Given the description of an element on the screen output the (x, y) to click on. 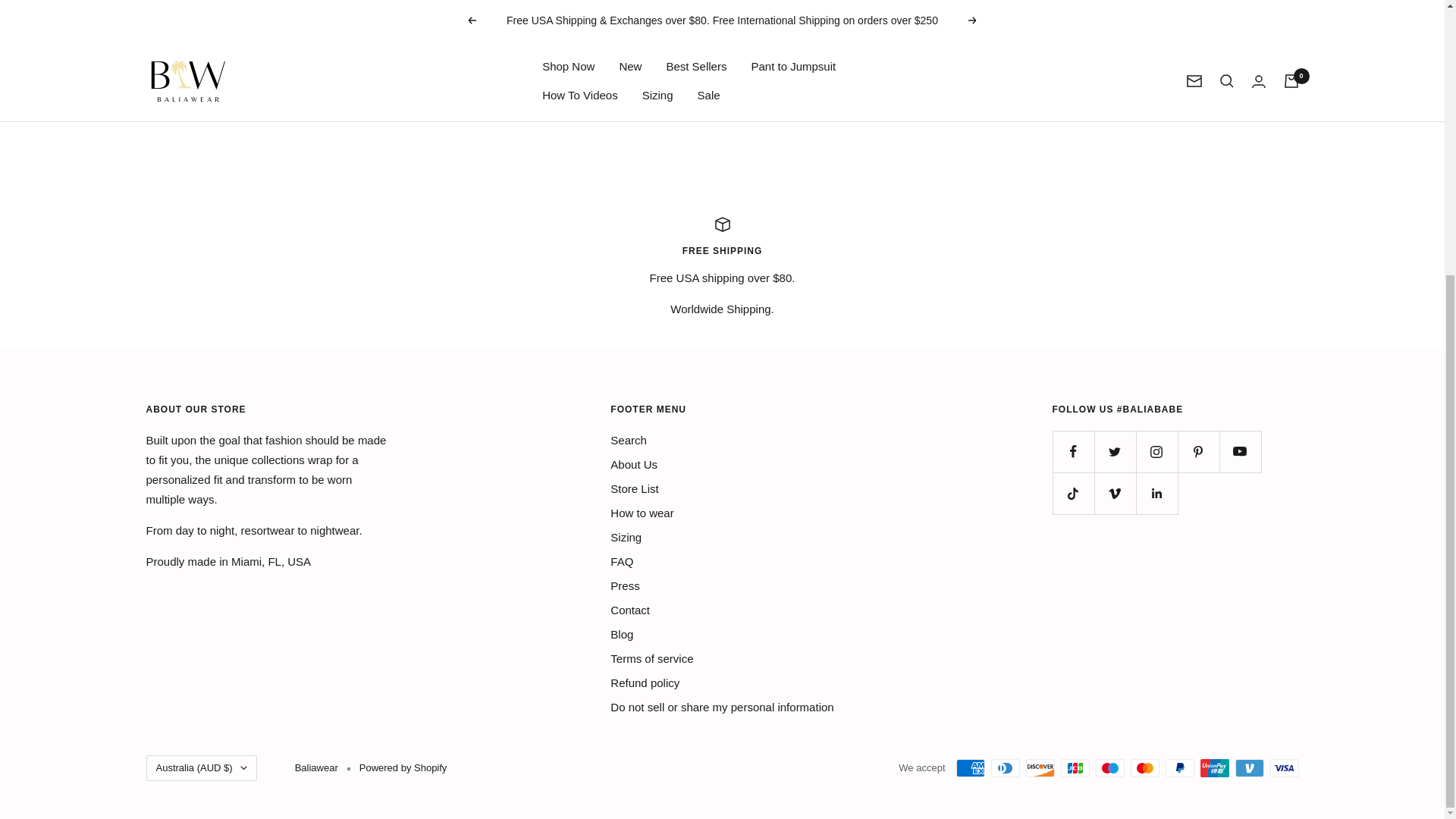
FAQ (621, 561)
Sizing (626, 537)
Press (624, 586)
About Us (634, 465)
Blog (621, 634)
Search (628, 440)
Contact (629, 609)
How to wear (641, 513)
Terms of service (651, 659)
Refund policy (644, 682)
Do not sell or share my personal information (721, 707)
BACK TO HOME (721, 7)
Store List (634, 488)
